Given the description of an element on the screen output the (x, y) to click on. 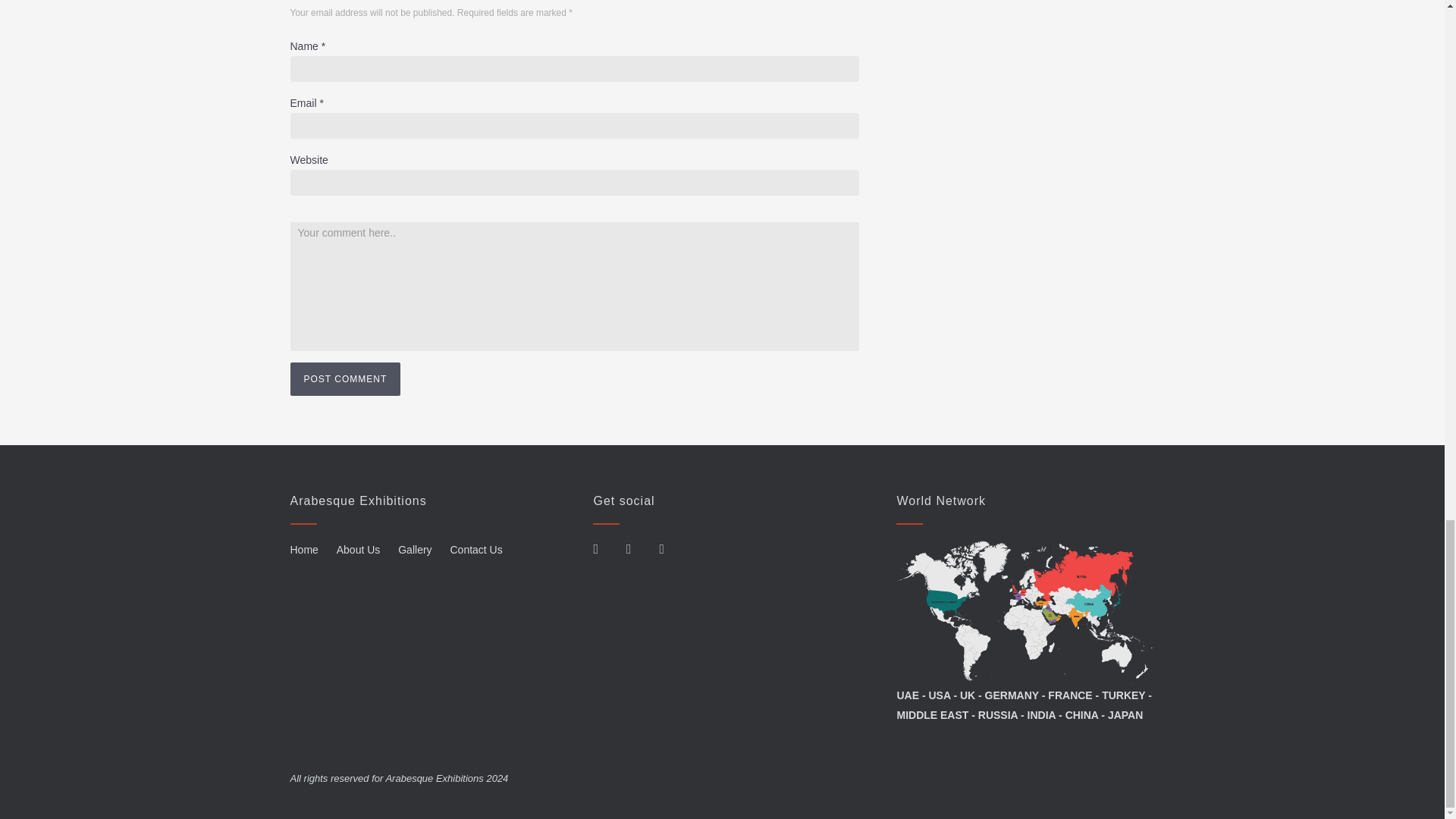
Gallery (413, 549)
About Us (358, 549)
Home (303, 549)
Contact Us (475, 549)
POST COMMENT (344, 378)
